Given the description of an element on the screen output the (x, y) to click on. 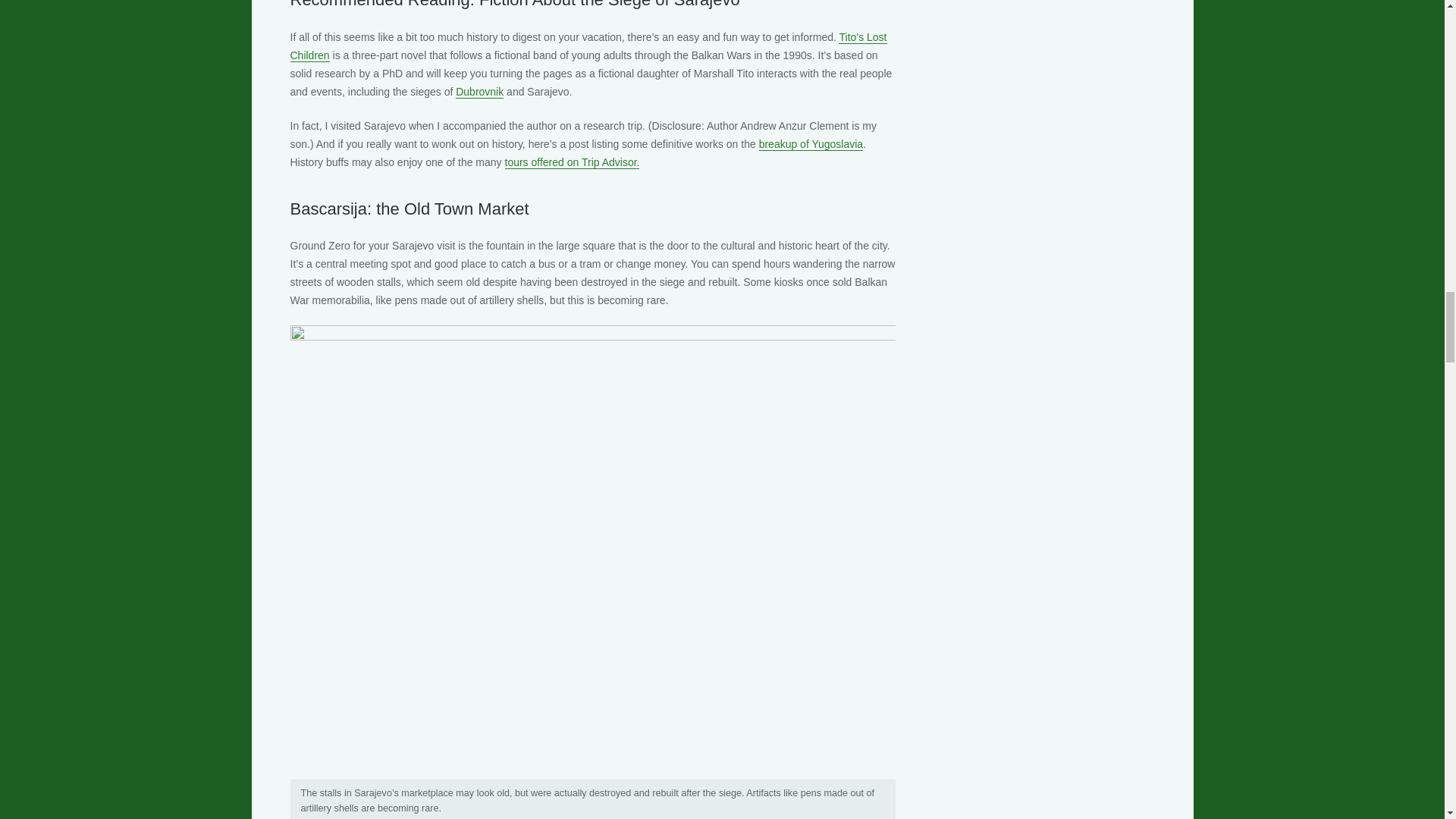
Dubrovnik (479, 91)
tours offered on Trip Advisor. (572, 162)
breakup of Yugoslavia (810, 144)
